Given the description of an element on the screen output the (x, y) to click on. 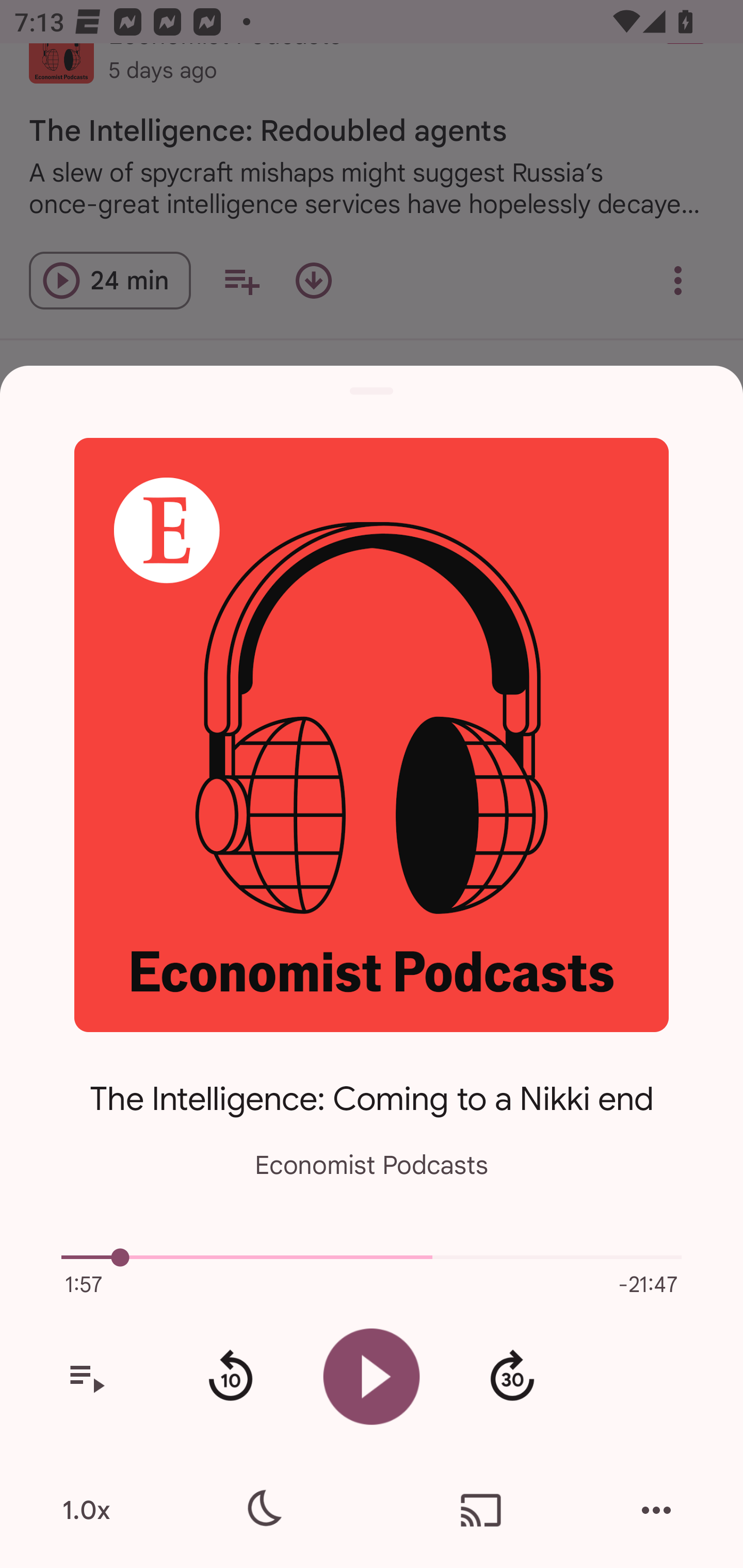
Open the show page for Economist Podcasts (371, 734)
822.0 Current episode playback (371, 1257)
Play (371, 1376)
View your queue (86, 1376)
Rewind 10 seconds (230, 1376)
Fast forward 30 second (511, 1376)
1.0x Playback speed is 1.0. (86, 1510)
Sleep timer settings (261, 1510)
Cast. Disconnected (480, 1510)
More actions (655, 1510)
